Given the description of an element on the screen output the (x, y) to click on. 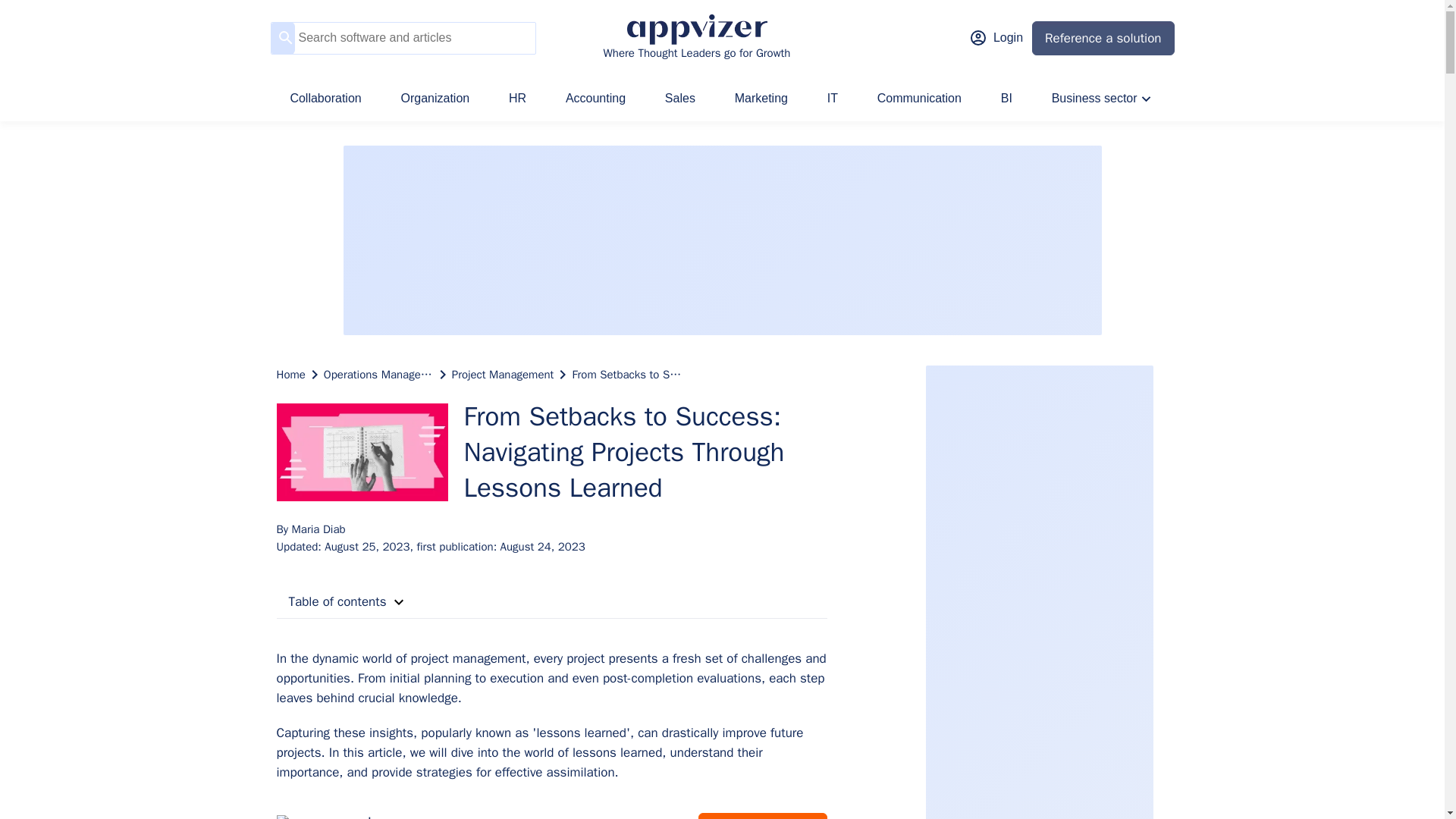
IT (832, 98)
Project Management (502, 374)
Operations Management (378, 374)
Home (290, 374)
HR (517, 98)
Reference a solution (1102, 38)
Operations Management (378, 374)
BI (1006, 98)
Communication (919, 98)
Where Thought Leaders go for Growth (696, 37)
